Given the description of an element on the screen output the (x, y) to click on. 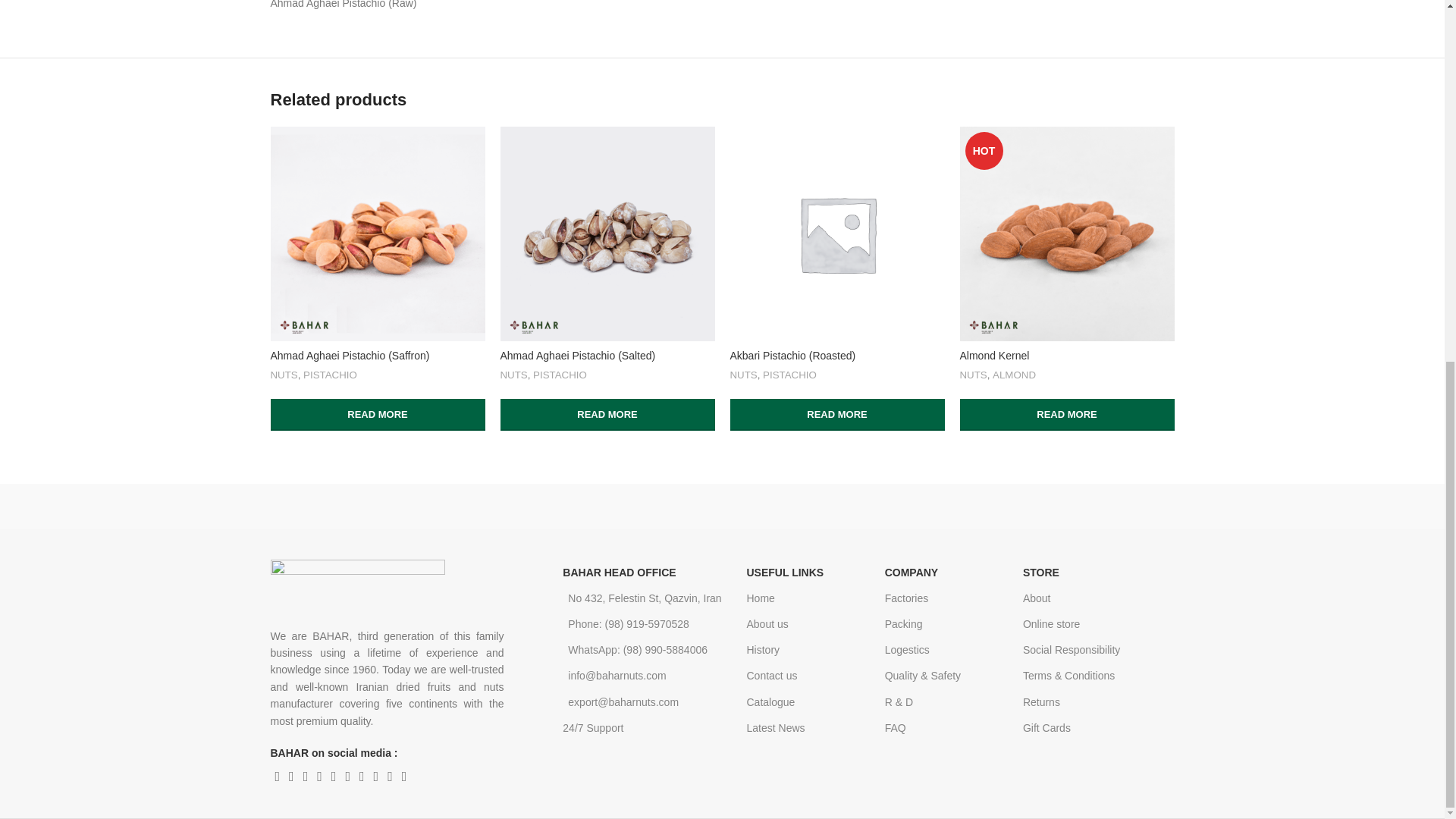
Hay (1367, 506)
Alessi (980, 506)
Louis Poulsen (593, 506)
Joseph Joseph (463, 506)
Eva Solo (333, 506)
Magisso (722, 506)
Flos (1109, 506)
Vitra (851, 506)
